Given the description of an element on the screen output the (x, y) to click on. 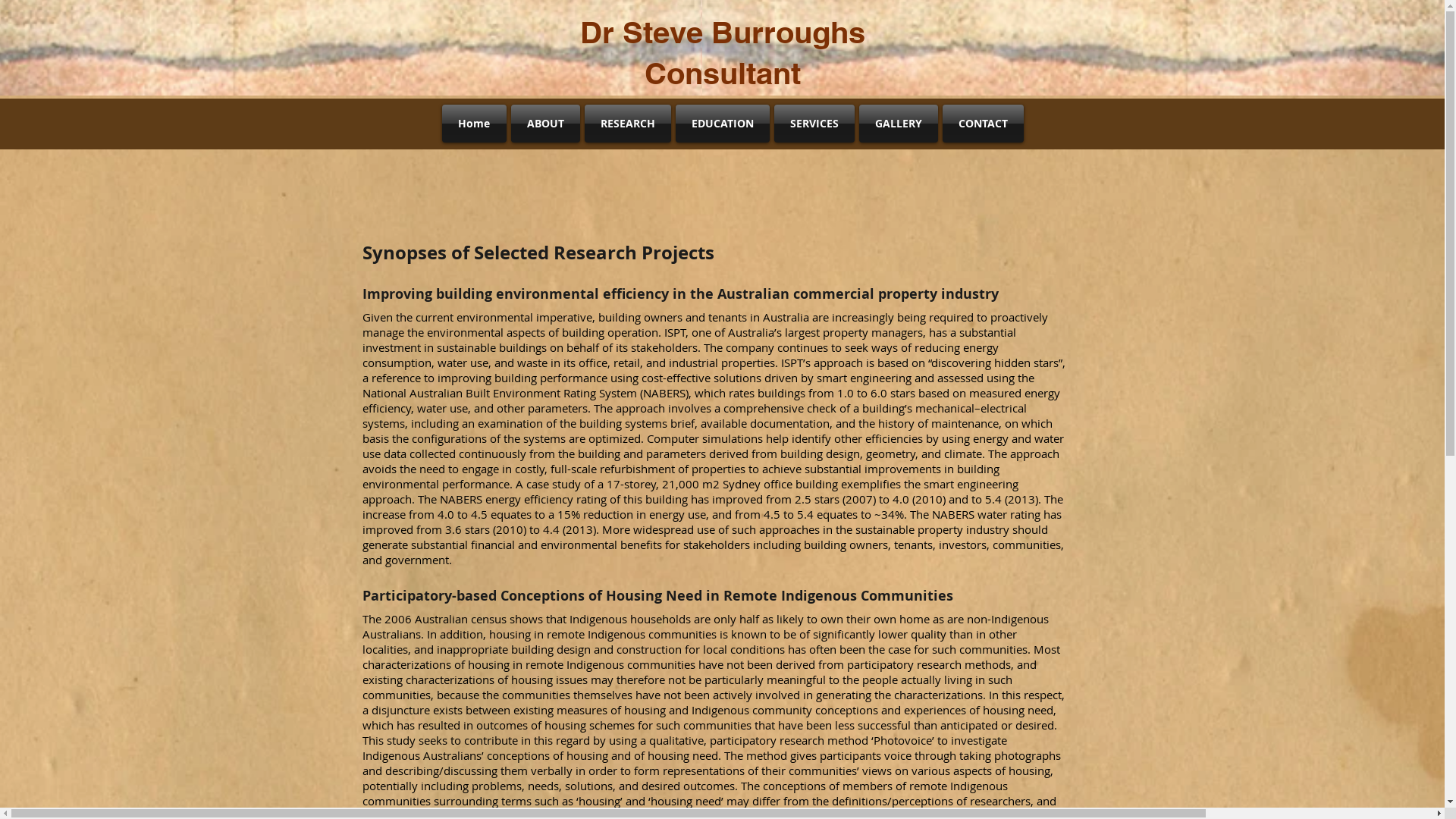
ABOUT Element type: text (544, 123)
CONTACT Element type: text (981, 123)
EDUCATION Element type: text (722, 123)
SERVICES Element type: text (813, 123)
Home Element type: text (474, 123)
RESEARCH Element type: text (627, 123)
GALLERY Element type: text (898, 123)
